Given the description of an element on the screen output the (x, y) to click on. 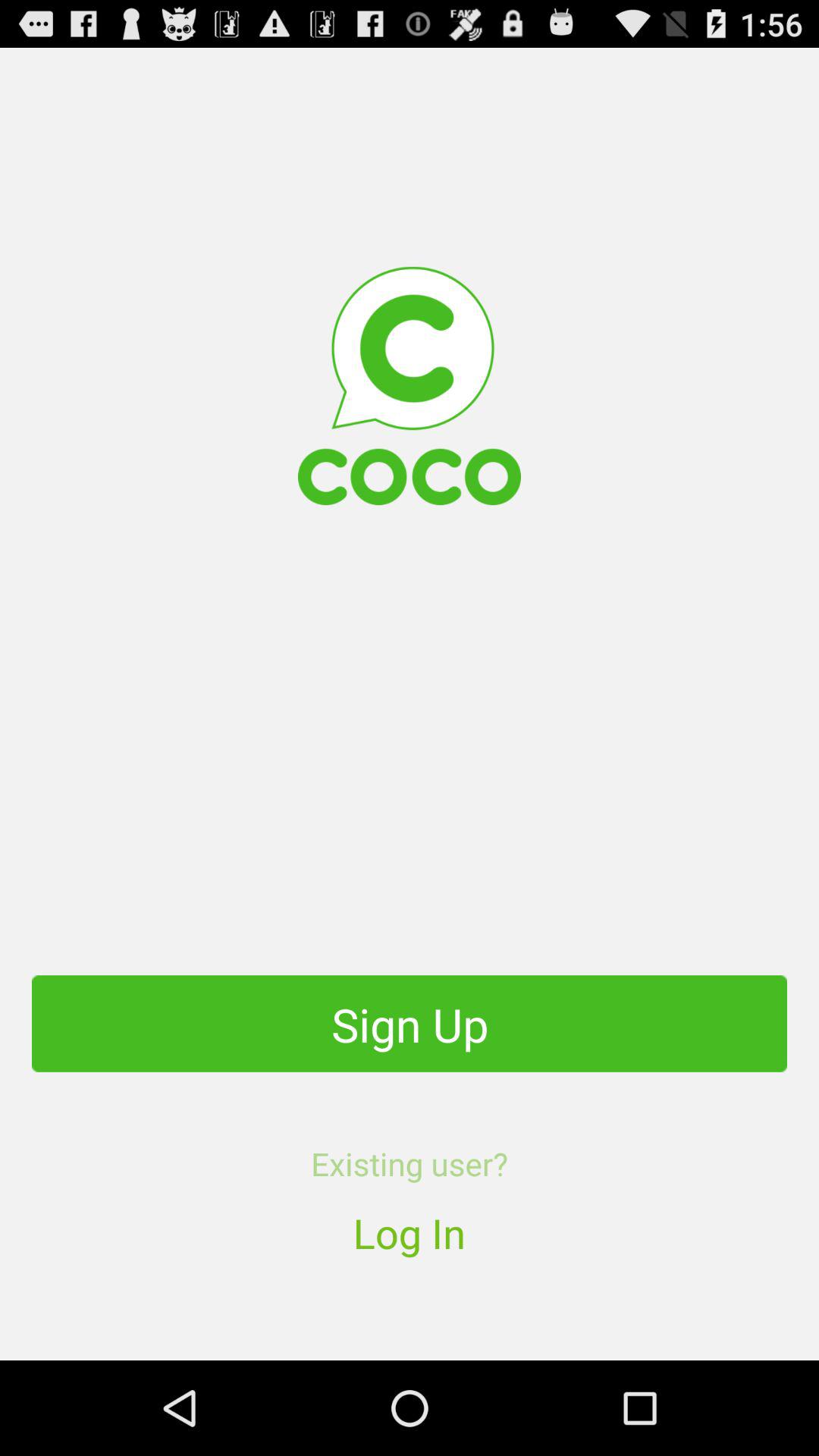
turn off the item above the existing user? (409, 1023)
